Given the description of an element on the screen output the (x, y) to click on. 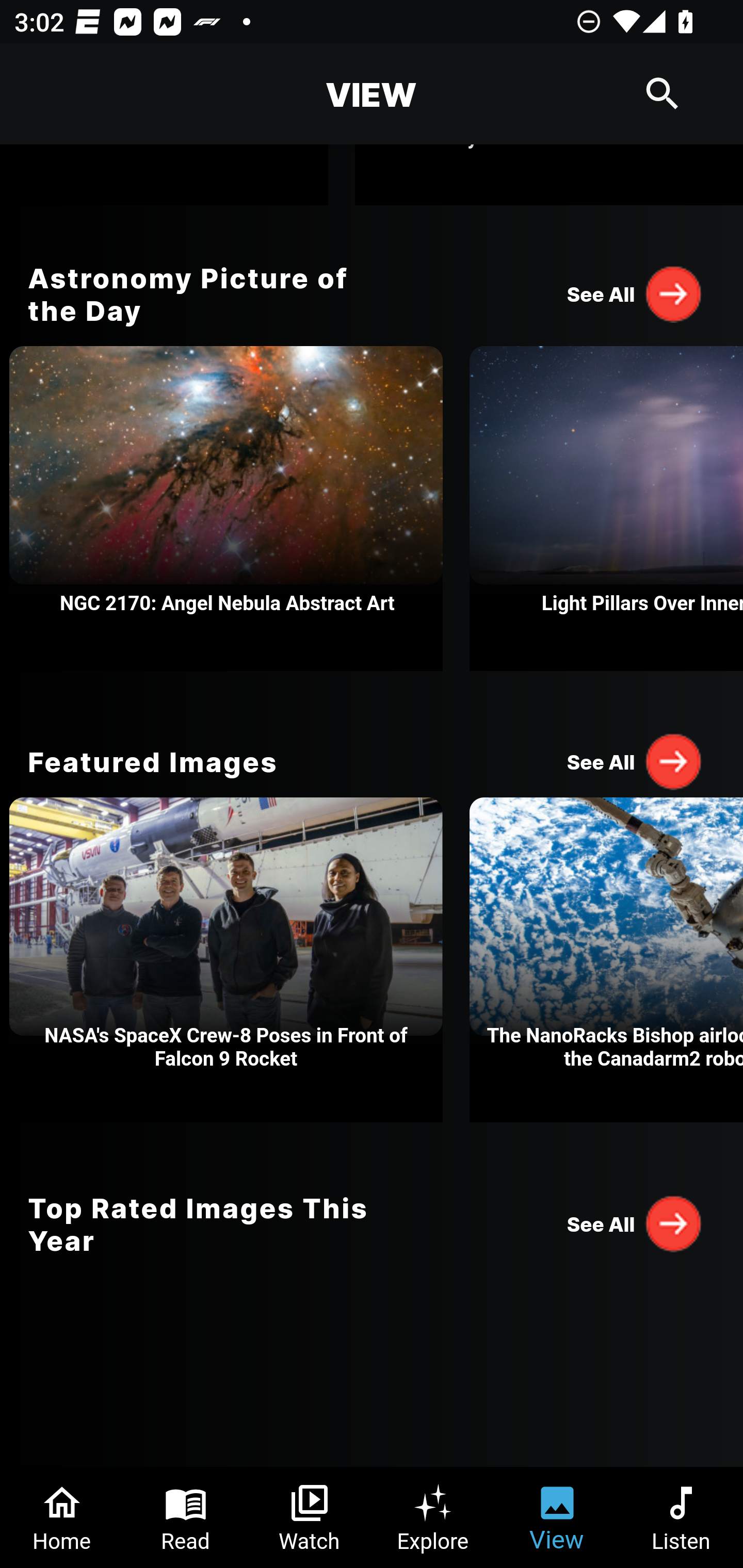
See All (634, 293)
NGC 2170: Angel Nebula Abstract Art (225, 508)
Light Pillars Over Inner Mongolia (606, 508)
See All (634, 760)
See All (634, 1222)
Home
Tab 1 of 6 (62, 1517)
Read
Tab 2 of 6 (185, 1517)
Watch
Tab 3 of 6 (309, 1517)
Explore
Tab 4 of 6 (433, 1517)
View
Tab 5 of 6 (556, 1517)
Listen
Tab 6 of 6 (680, 1517)
